Given the description of an element on the screen output the (x, y) to click on. 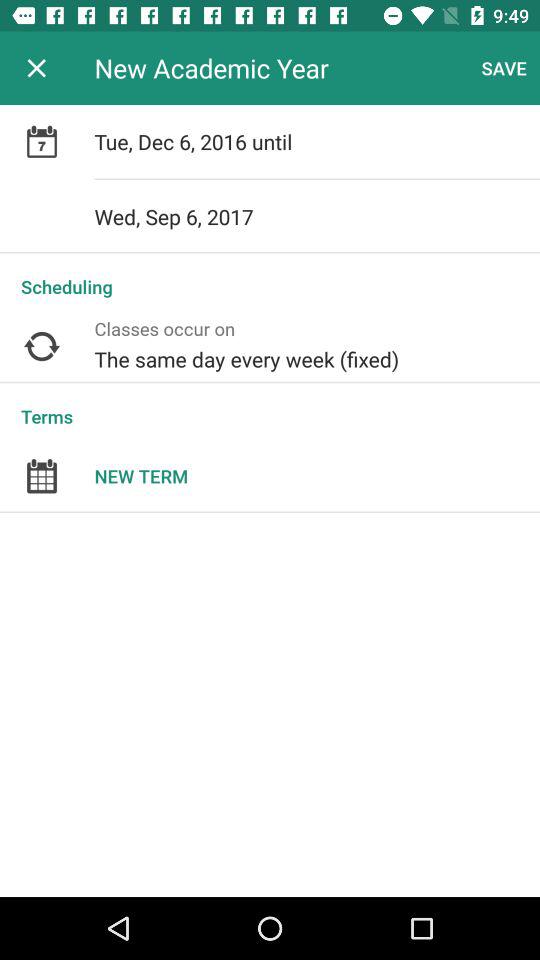
turn on item to the left of the new academic year app (36, 68)
